Given the description of an element on the screen output the (x, y) to click on. 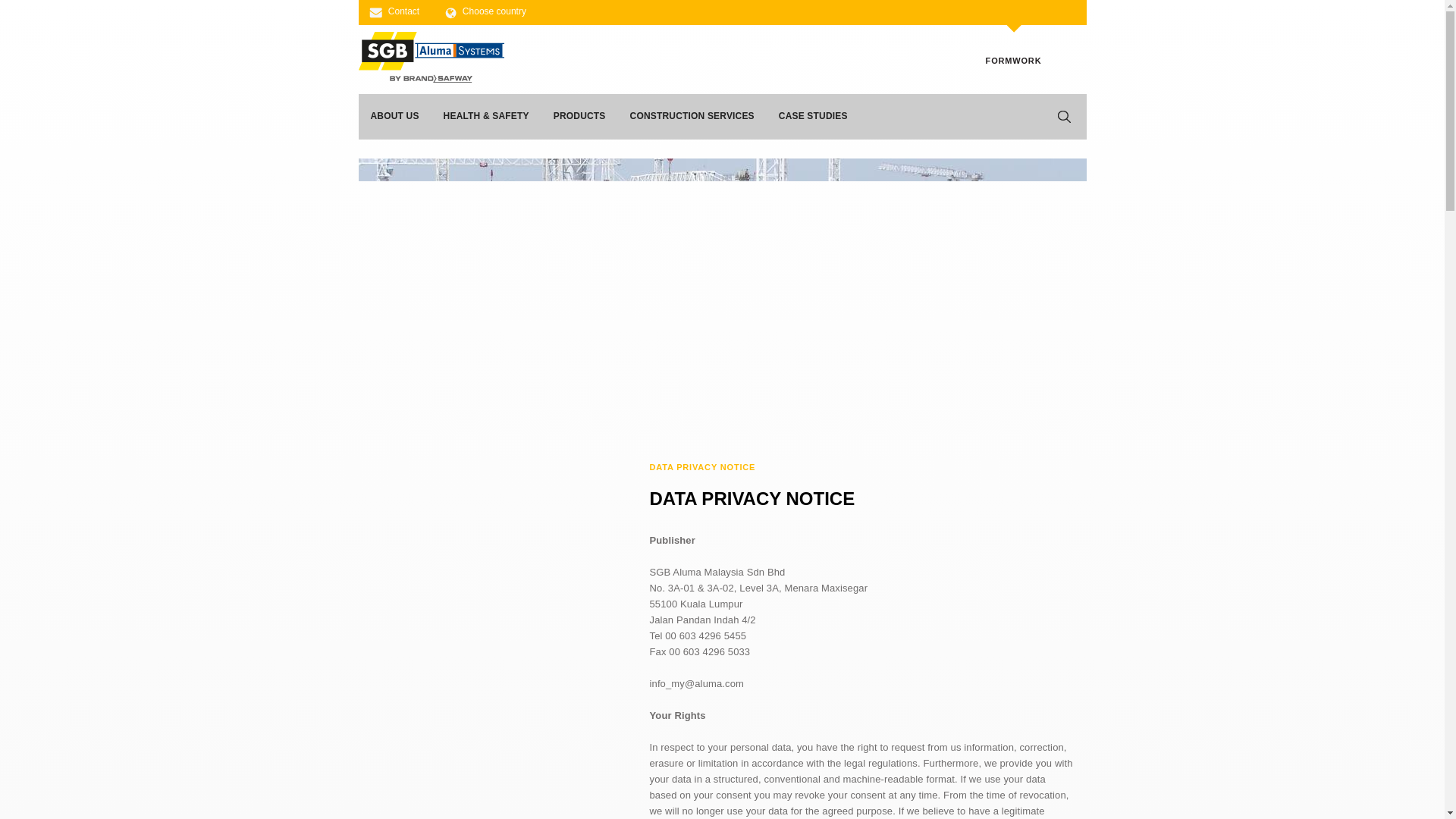
SGB, Aluma, Formwork, Shoring, Falsework (430, 58)
DATA PRIVACY NOTICE (703, 466)
PRODUCTS (579, 116)
Choose country (485, 10)
CONSTRUCTION SERVICES (692, 116)
FORMWORK (1013, 59)
CASE STUDIES (813, 116)
ABOUT US (394, 116)
Contact (395, 10)
